Given the description of an element on the screen output the (x, y) to click on. 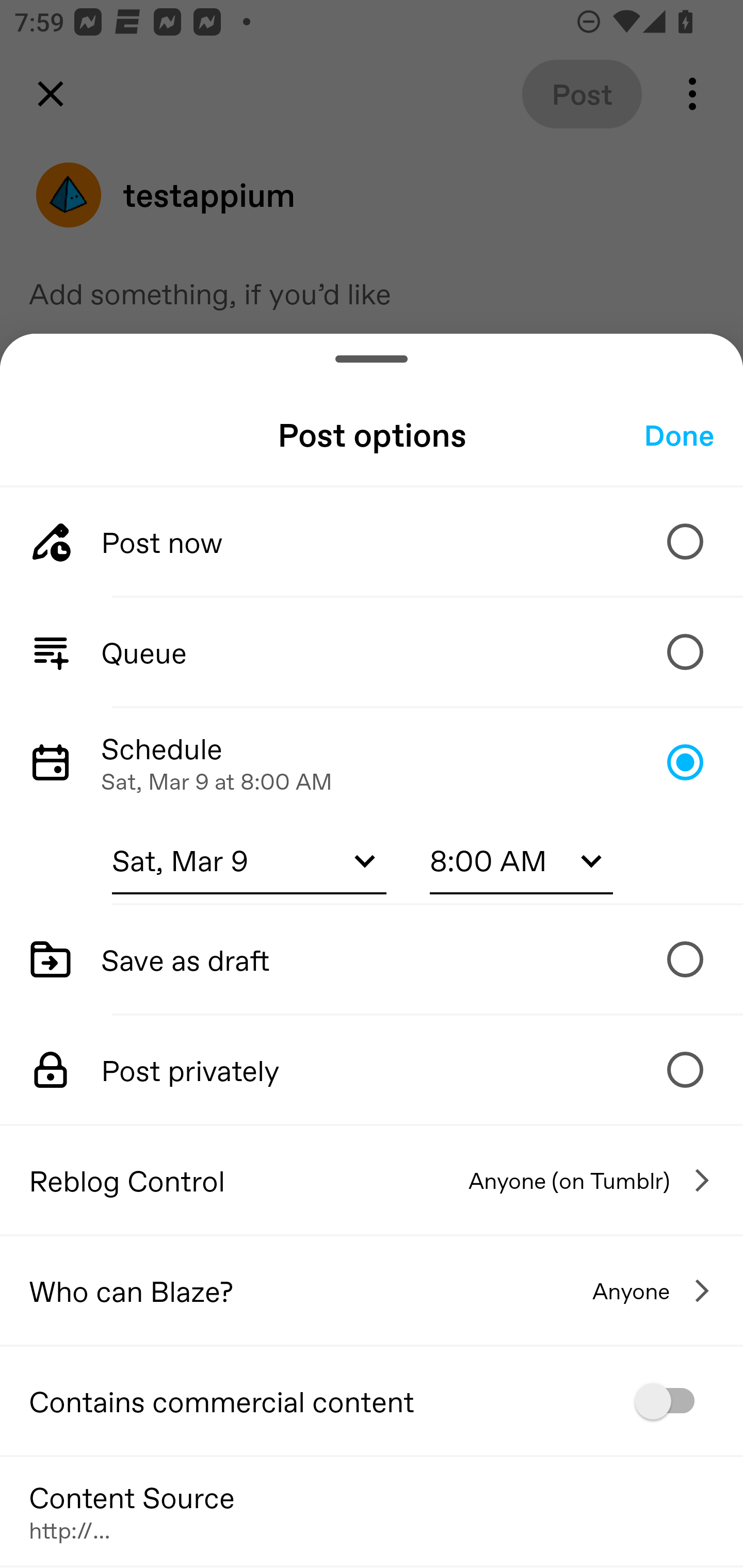
Done (679, 435)
Post now (371, 541)
Queue (371, 651)
Schedule Sat, Mar 9 at 8:00 AM (371, 762)
Sat, Mar 9 (249, 859)
8:00 AM (520, 859)
Save as draft (371, 958)
Post privately (371, 1070)
Reblog Control Anyone (on Tumblr) (371, 1179)
Who can Blaze? Anyone (371, 1290)
Contains commercial content (371, 1400)
Content Source http://… (371, 1510)
